Given the description of an element on the screen output the (x, y) to click on. 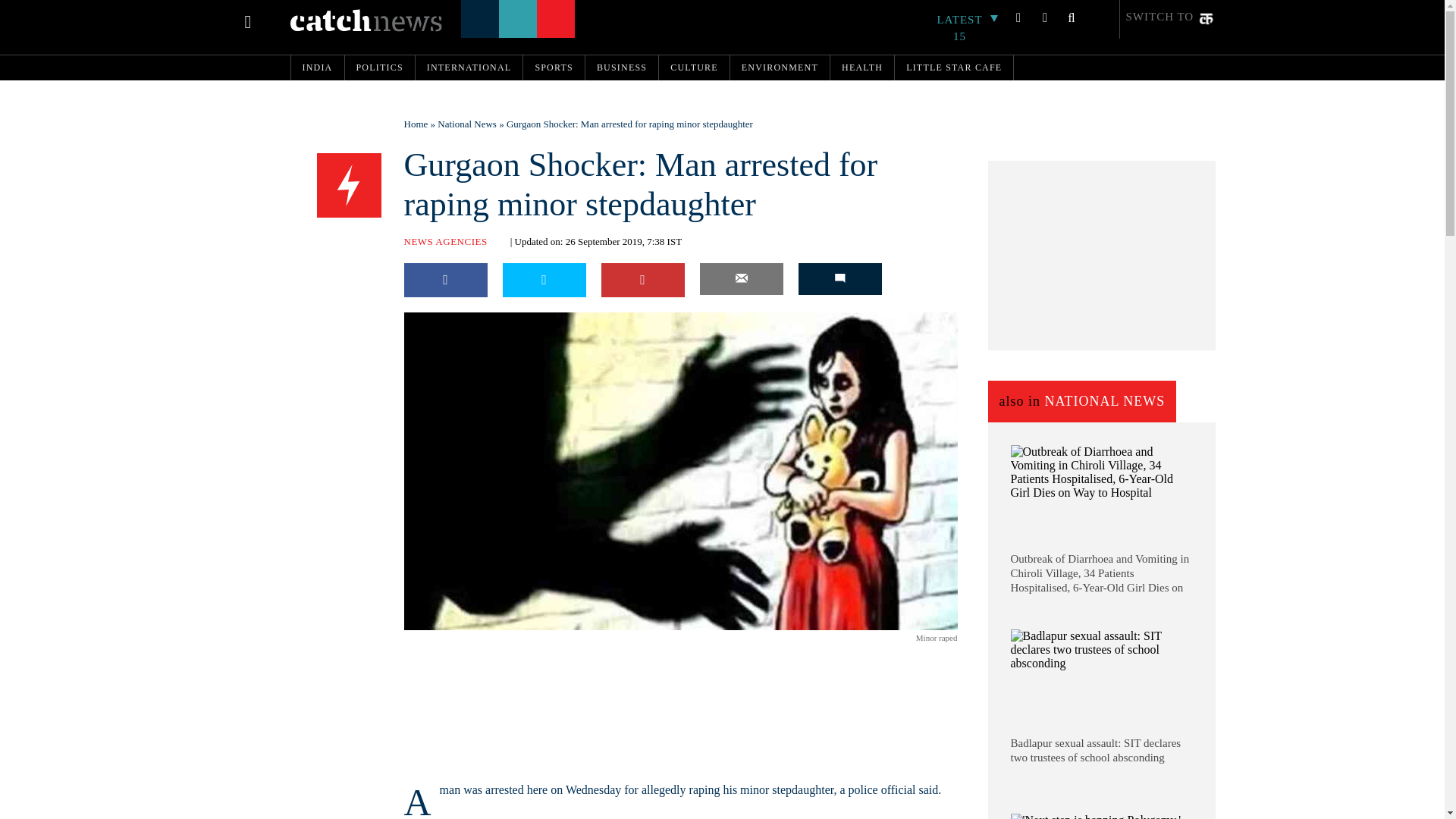
fb:like Facebook Social Plugin (422, 640)
Catch News (365, 20)
SPEED NEWS (349, 185)
LATEST 15 (968, 28)
Twitter Follow Button (501, 640)
